Given the description of an element on the screen output the (x, y) to click on. 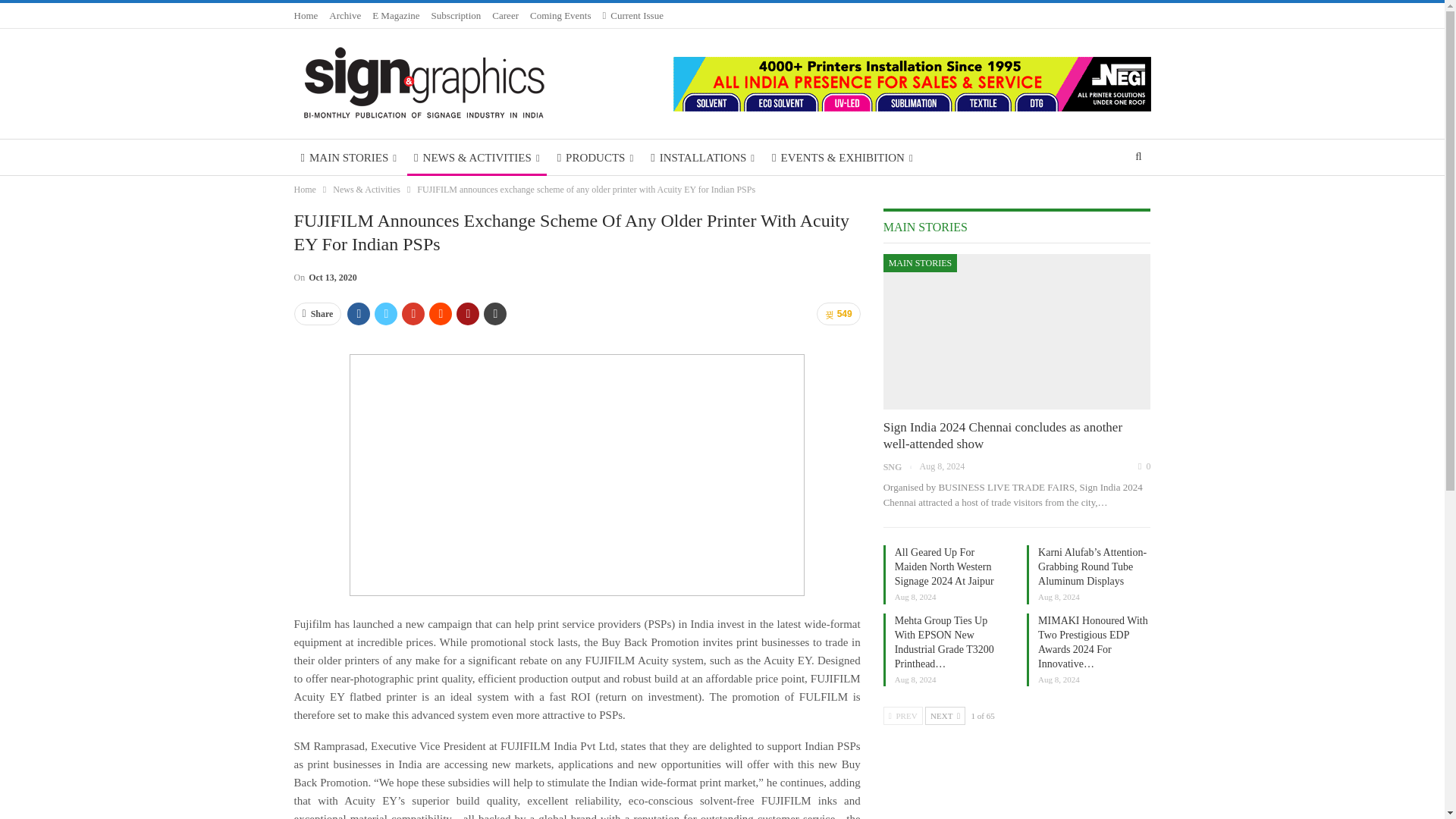
Home (306, 15)
Career (505, 15)
Coming Events (560, 15)
Subscription (455, 15)
MAIN STORIES (349, 157)
E Magazine (395, 15)
Current Issue (632, 15)
Archive (345, 15)
